Given the description of an element on the screen output the (x, y) to click on. 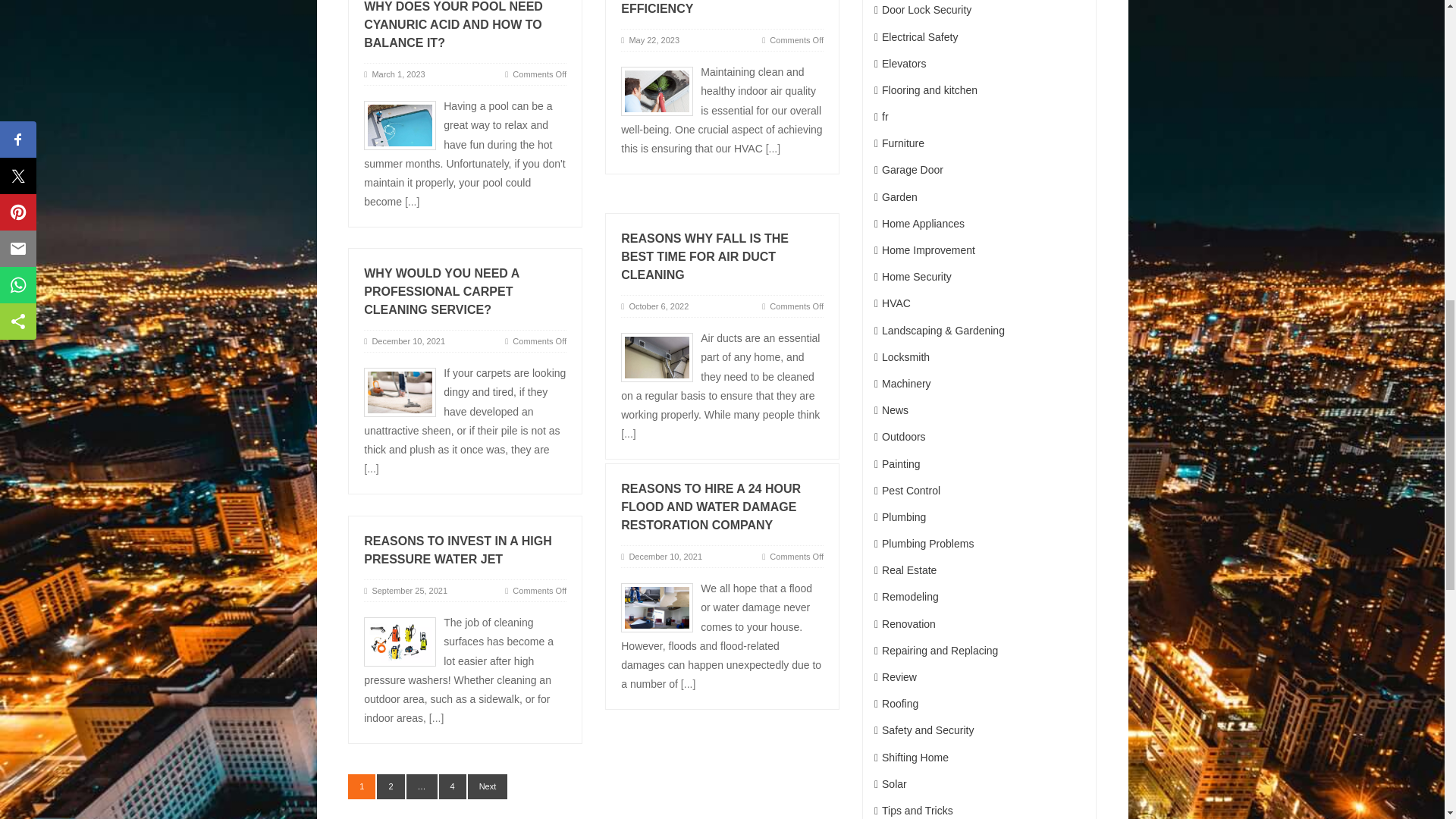
Why Would You Need a Professional Carpet Cleaning Service (399, 391)
Air Duct Cleaning (657, 357)
Las Vegas Pool Cleaners (399, 124)
Duct Cleaning (657, 91)
